Given the description of an element on the screen output the (x, y) to click on. 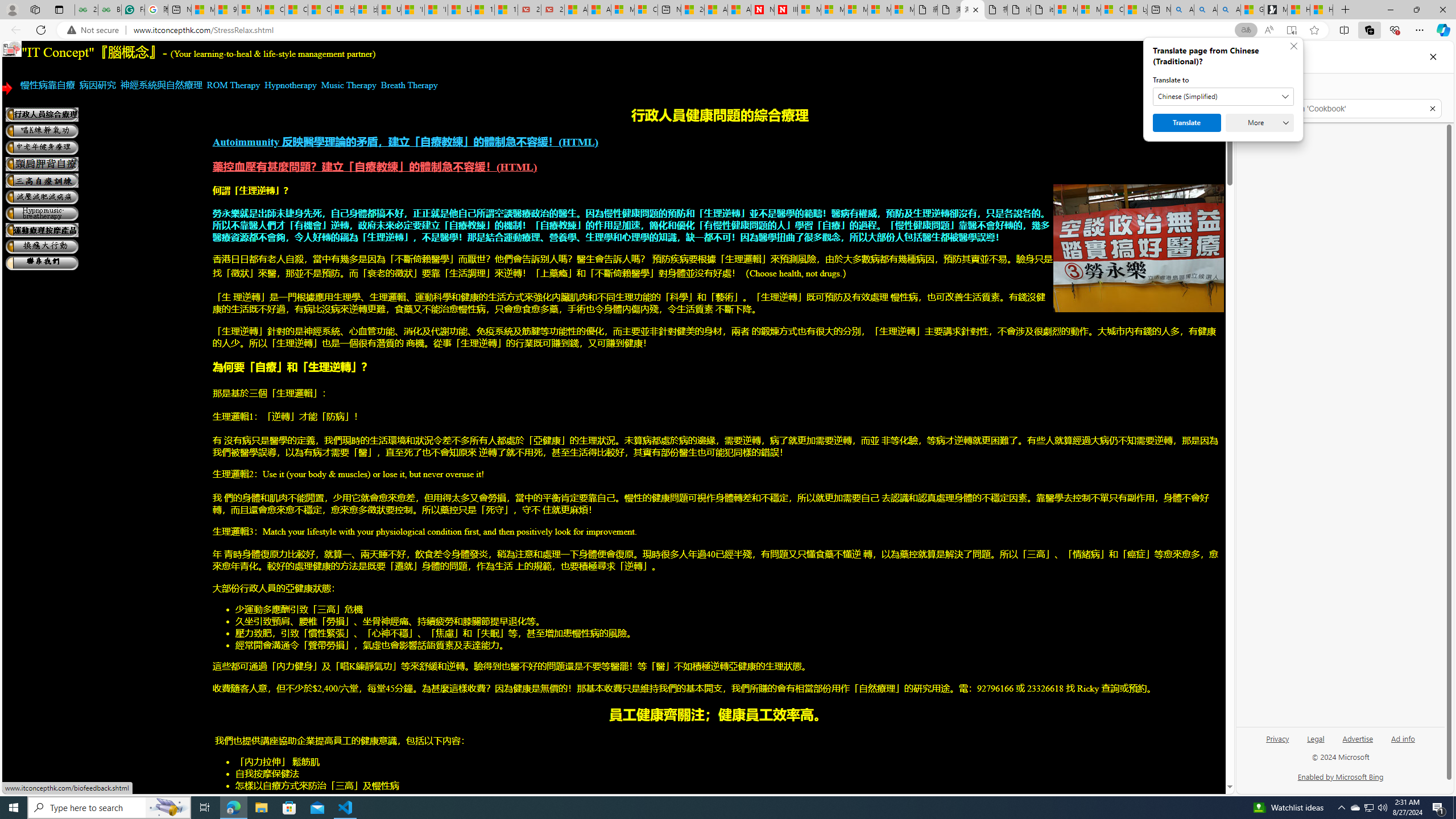
Translate (1187, 122)
Newsweek - News, Analysis, Politics, Business, Technology (761, 9)
Illness news & latest pictures from Newsweek.com (786, 9)
Breath Therapy (409, 85)
Hypnotherapy (290, 85)
